Given the description of an element on the screen output the (x, y) to click on. 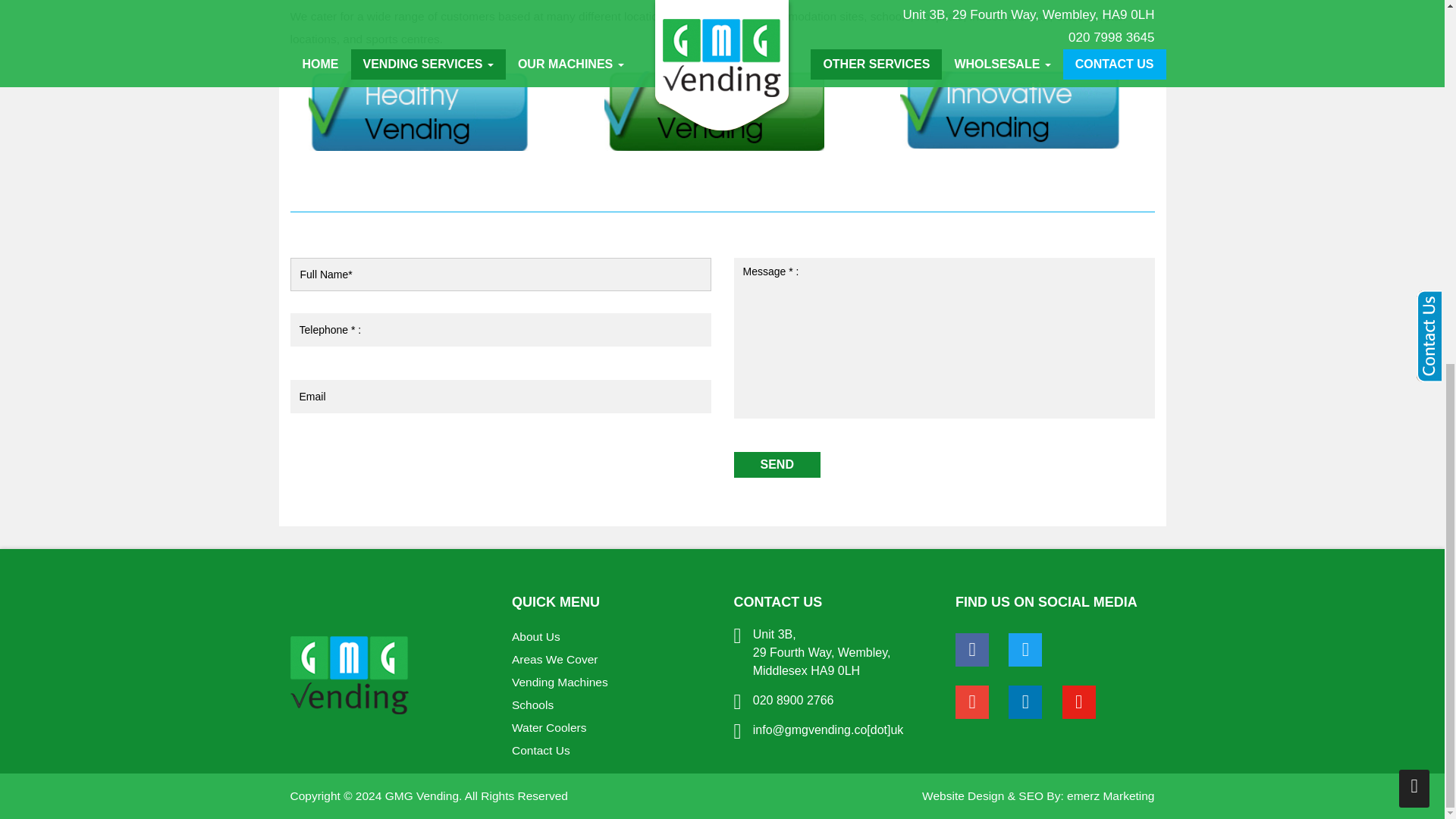
Contact Us (541, 749)
Send (777, 464)
About Us (536, 635)
Vending Machines (560, 681)
Water Coolers (549, 727)
Schools (532, 704)
emerz Marketing (1110, 795)
Areas We Cover (554, 658)
Send (777, 464)
